Given the description of an element on the screen output the (x, y) to click on. 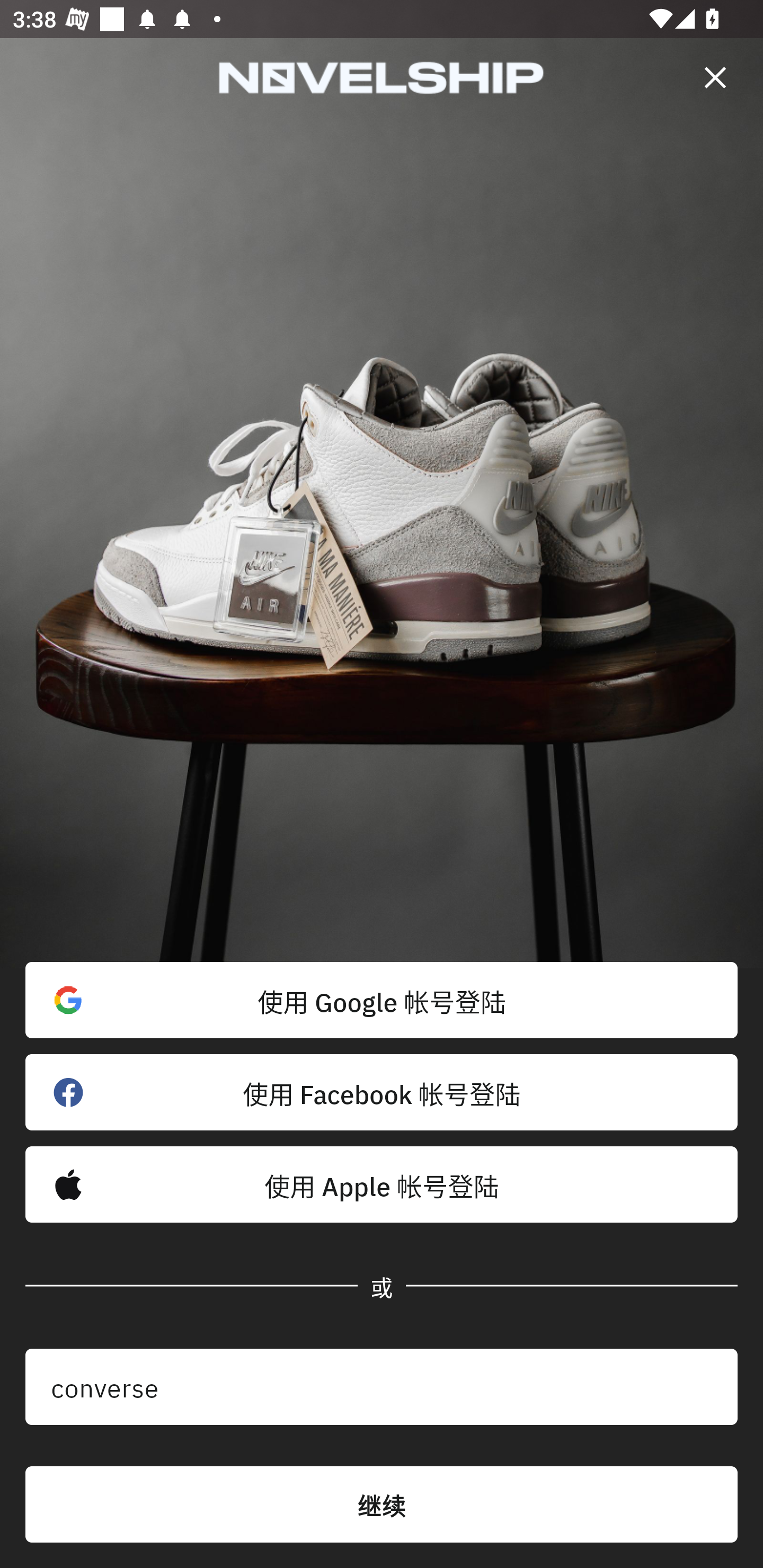
使用 Google 帐号登陆 (381, 1000)
使用 Facebook 帐号登陆 󰈌 (381, 1091)
 使用 Apple 帐号登陆 (381, 1184)
converse (381, 1386)
继续 (381, 1504)
